Given the description of an element on the screen output the (x, y) to click on. 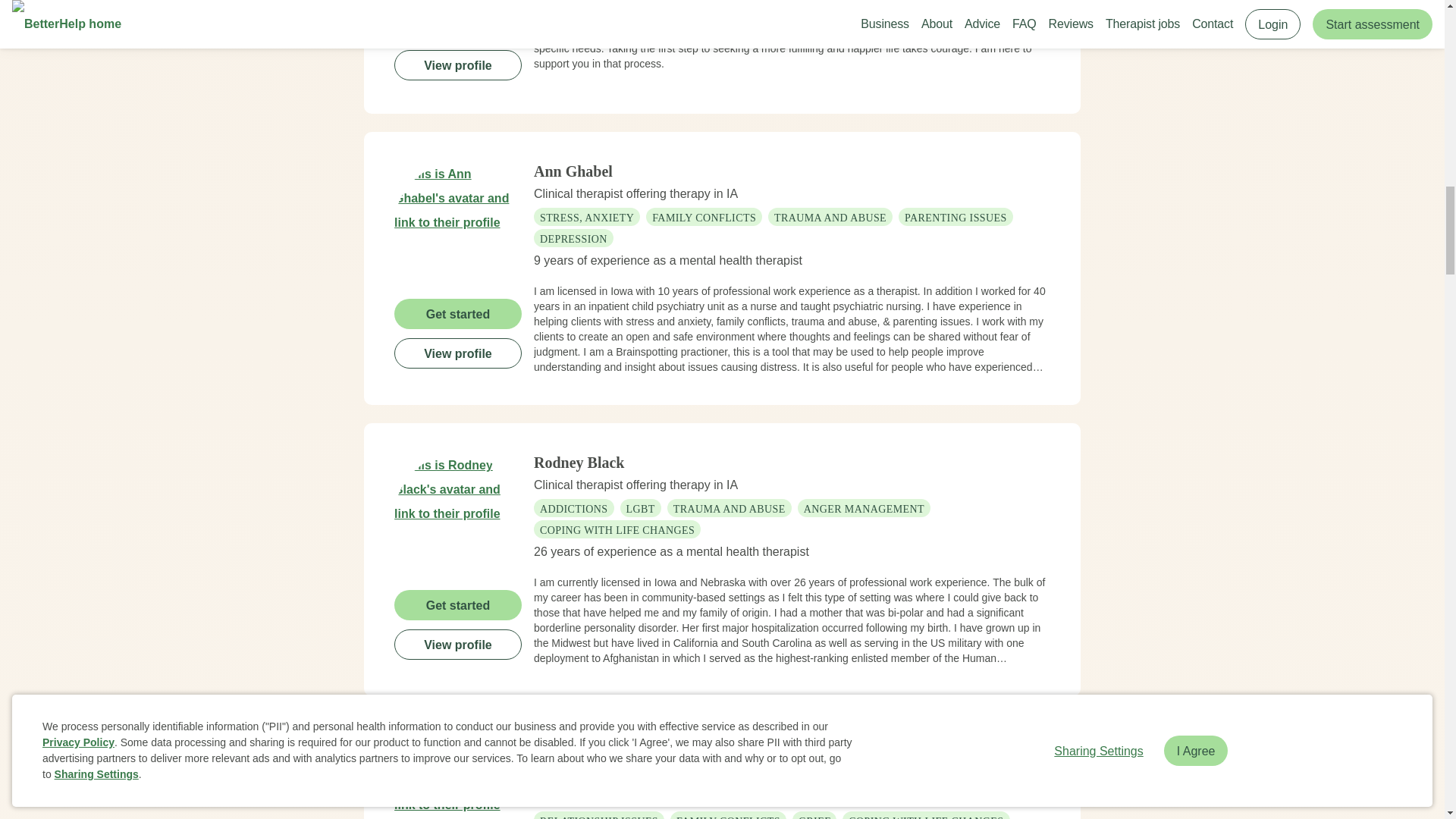
Click here to view Darissa Chance's profile 1 (457, 0)
View profile (457, 64)
View profile (457, 644)
View profile (457, 353)
Get started (457, 604)
Get started (457, 25)
Get started (457, 313)
